Given the description of an element on the screen output the (x, y) to click on. 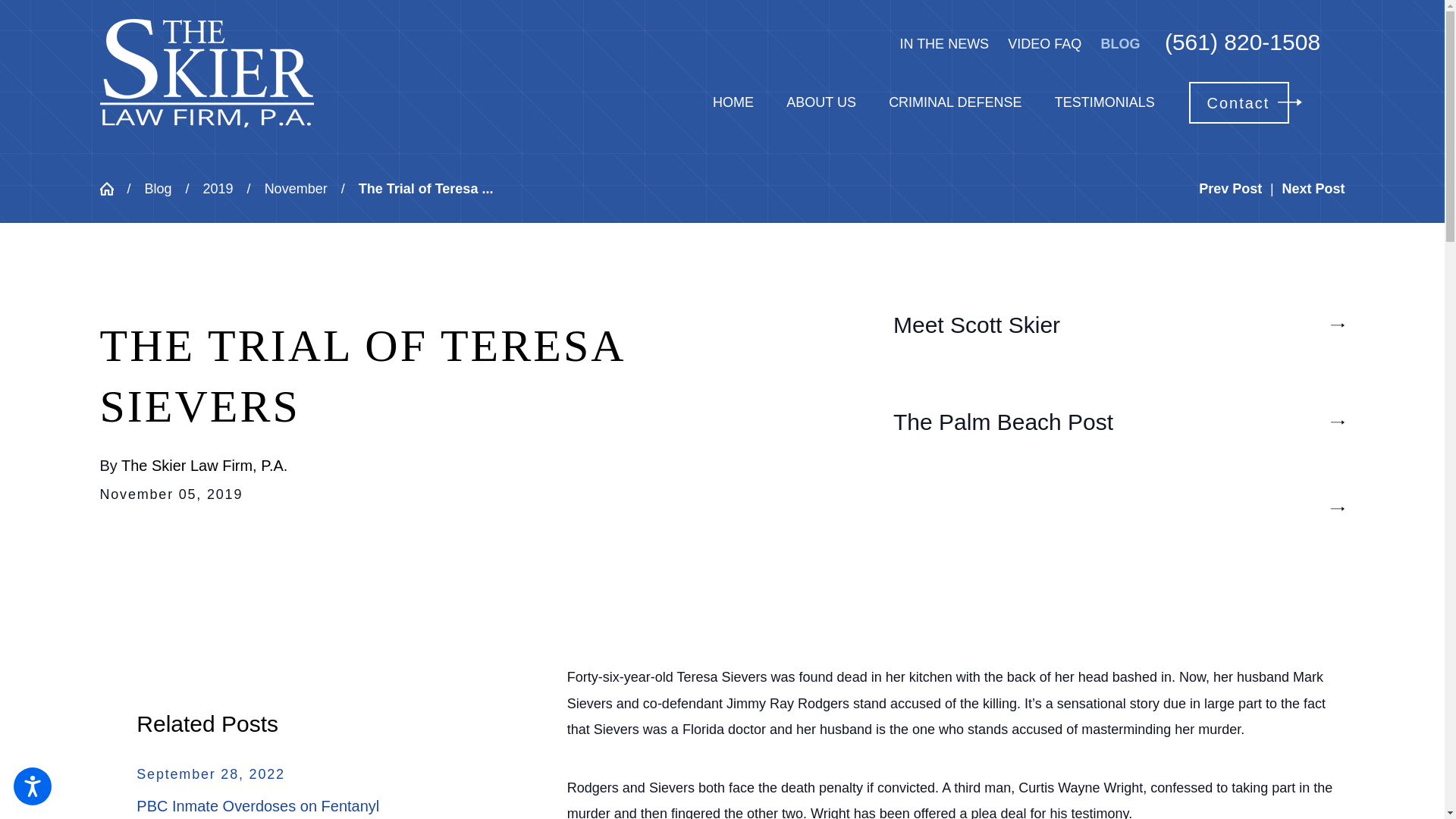
ABOUT US (821, 102)
VIDEO FAQ (1044, 43)
The Skier Law Firm (207, 72)
Go Home (114, 188)
HOME (733, 102)
BLOG (1120, 43)
Open the accessibility options menu (31, 786)
CRIMINAL DEFENSE (955, 102)
IN THE NEWS (943, 43)
